Given the description of an element on the screen output the (x, y) to click on. 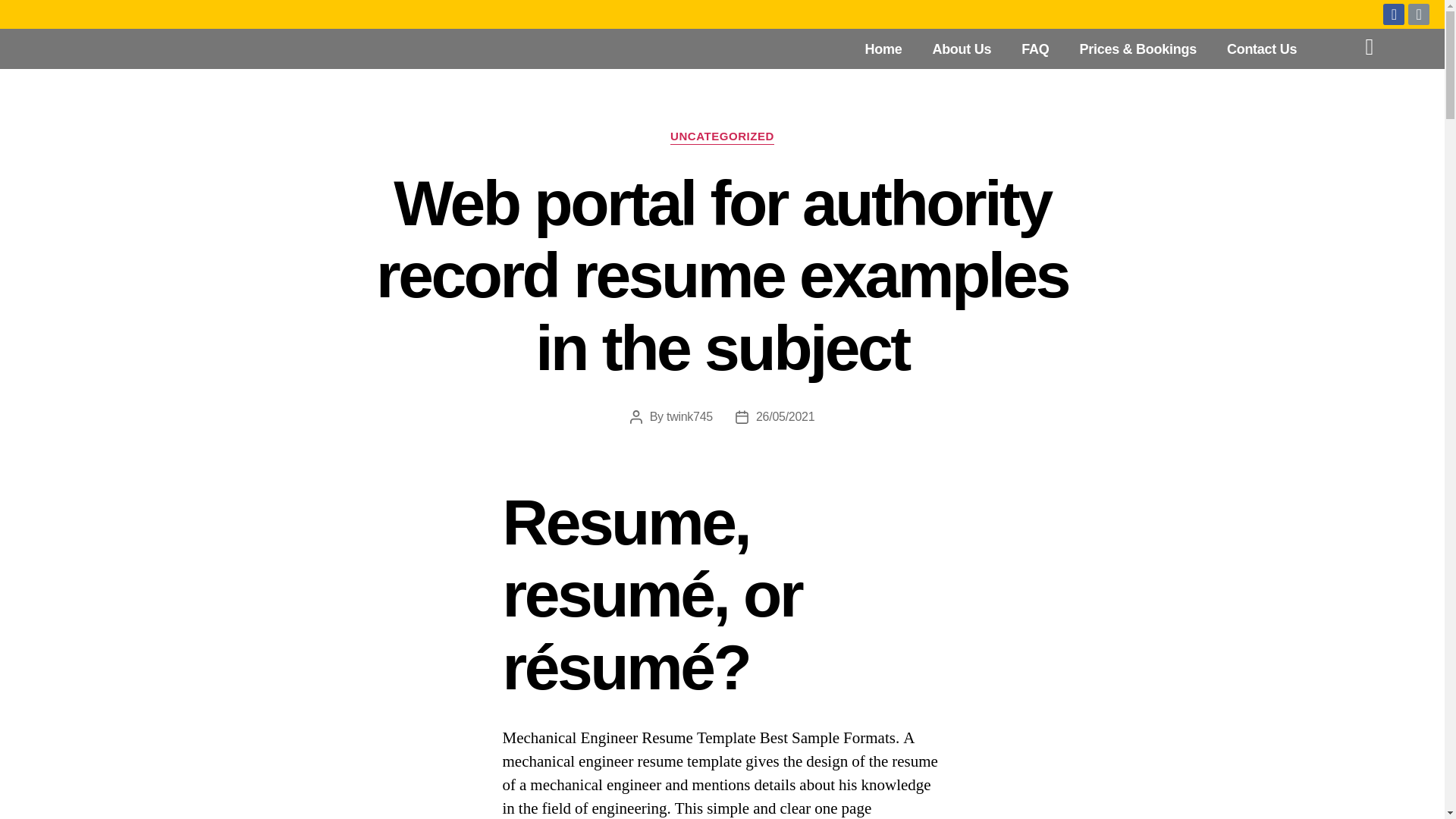
UNCATEGORIZED (721, 136)
FAQ (1035, 48)
About Us (961, 48)
Contact Us (1261, 48)
Home (882, 48)
twink745 (689, 416)
